Given the description of an element on the screen output the (x, y) to click on. 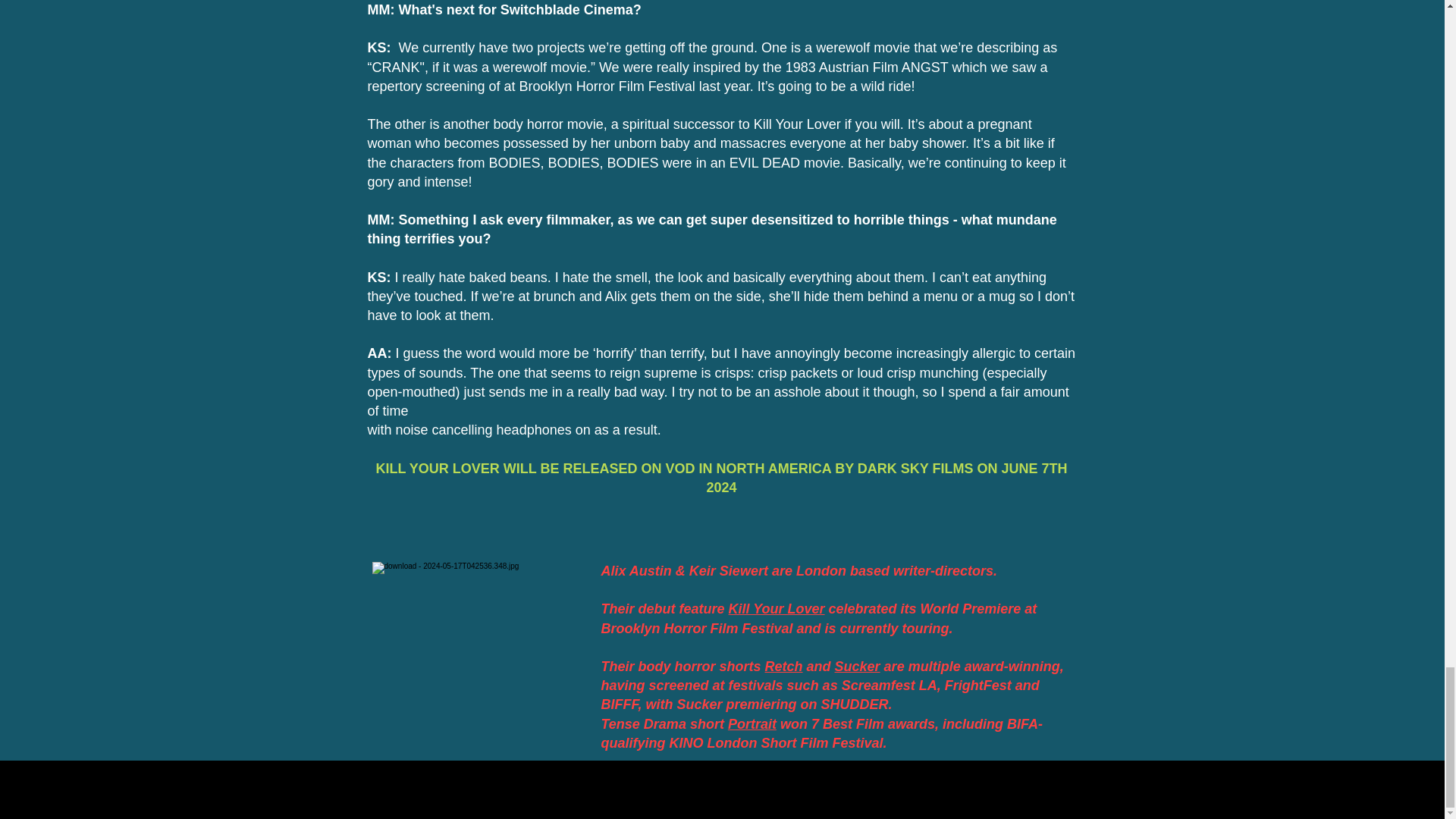
Retch (784, 666)
Sucker (857, 666)
Portrait (752, 724)
Kill Your Lover (777, 608)
